Given the description of an element on the screen output the (x, y) to click on. 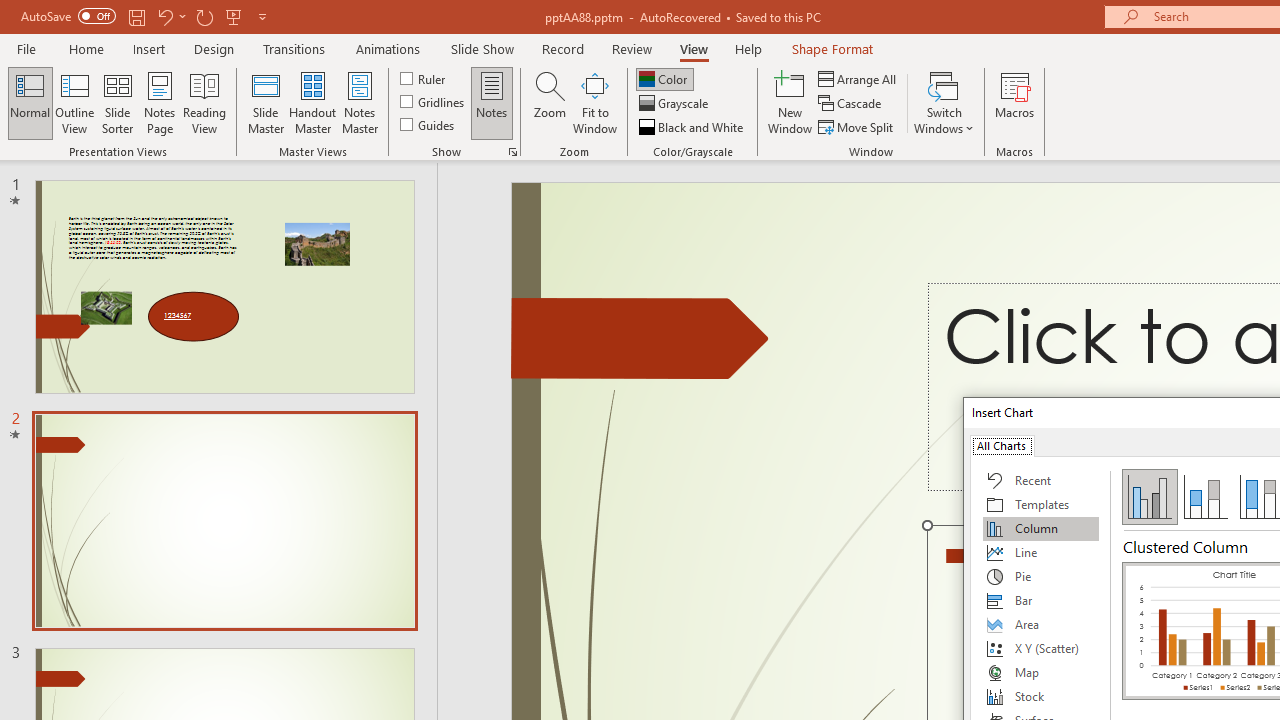
Notes Master (360, 102)
Grid Settings... (512, 151)
Color (664, 78)
New Window (790, 102)
Cascade (851, 103)
Macros (1014, 102)
Map (1041, 672)
